Given the description of an element on the screen output the (x, y) to click on. 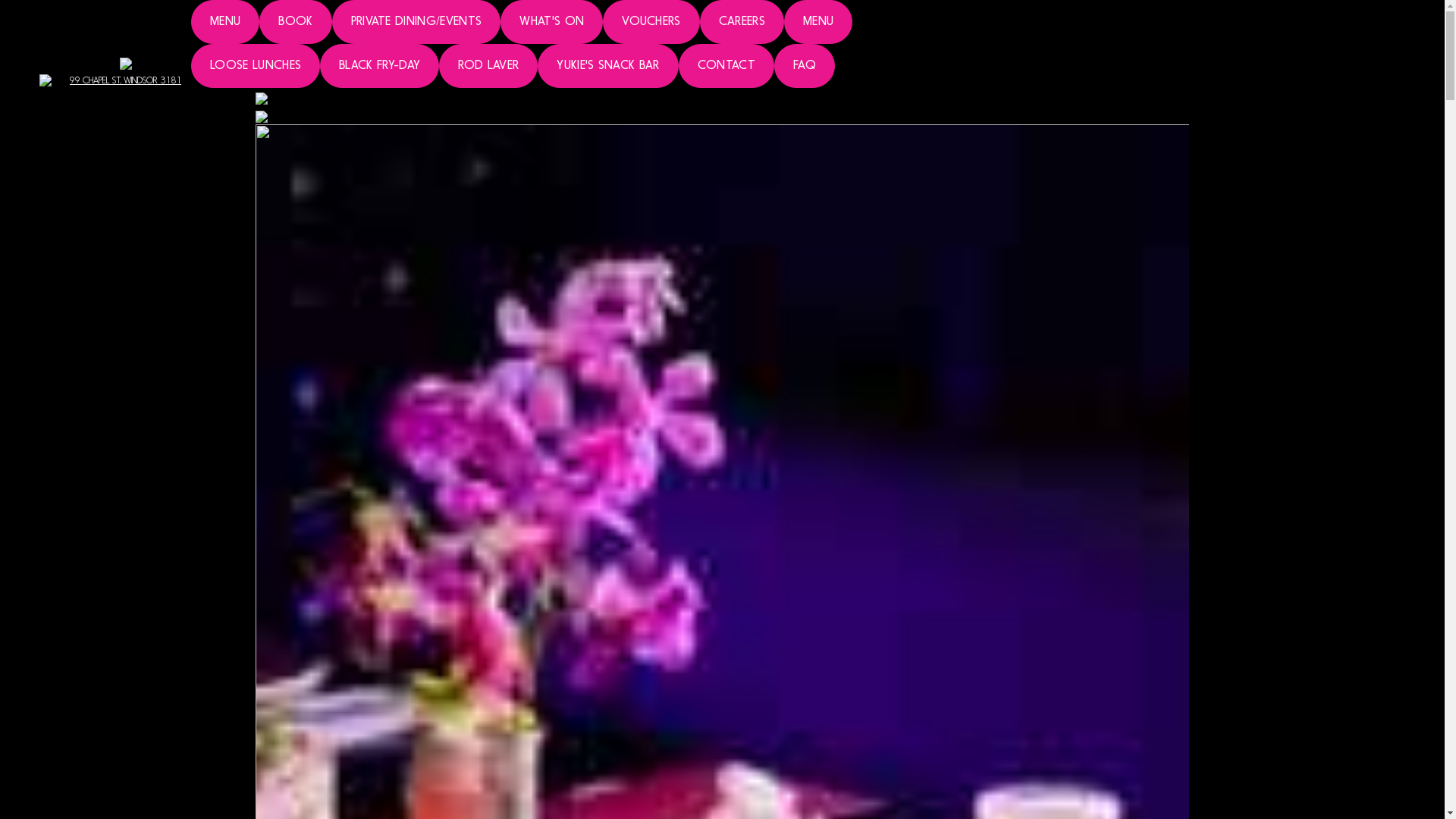
BOOK Element type: text (295, 21)
ROD LAVER Element type: text (488, 65)
PRIVATE DINING/EVENTS Element type: text (416, 21)
LOOSE LUNCHES Element type: text (255, 65)
CAREERS Element type: text (741, 21)
MENU Element type: text (225, 21)
BLACK FRY-DAY Element type: text (379, 65)
FAQ Element type: text (804, 65)
99 CHAPEL ST, WINDSOR 3181 Element type: text (125, 70)
VOUCHERS Element type: text (650, 21)
WHAT'S ON Element type: text (551, 21)
CONTACT Element type: text (726, 65)
MENU Element type: text (818, 21)
YUKIE'S SNACK BAR Element type: text (607, 65)
